Given the description of an element on the screen output the (x, y) to click on. 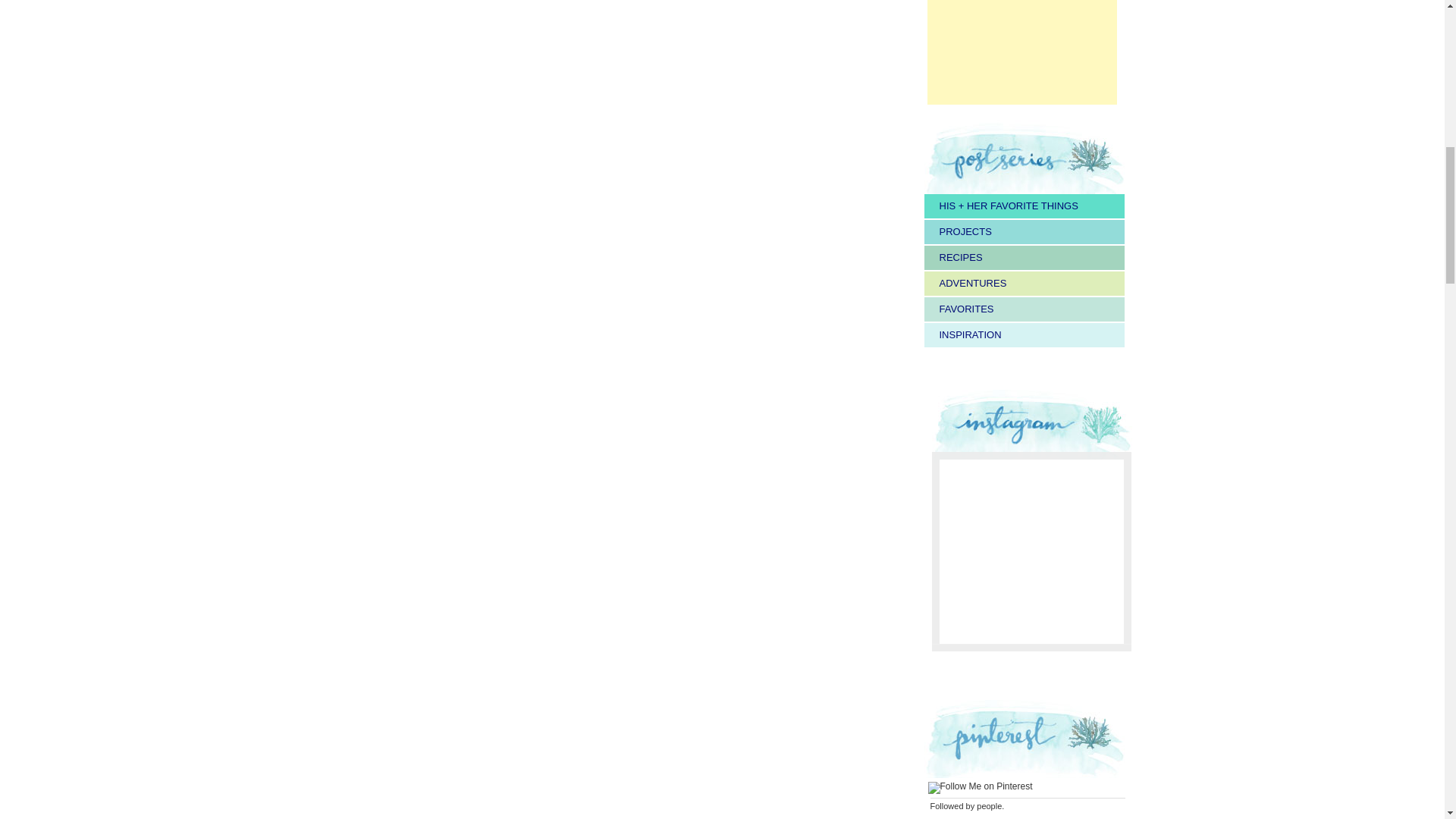
PROJECTS (965, 231)
RECIPES (960, 256)
INSPIRATION (970, 334)
FAVORITES (965, 308)
ADVENTURES (972, 283)
Advertisement (1021, 52)
